Given the description of an element on the screen output the (x, y) to click on. 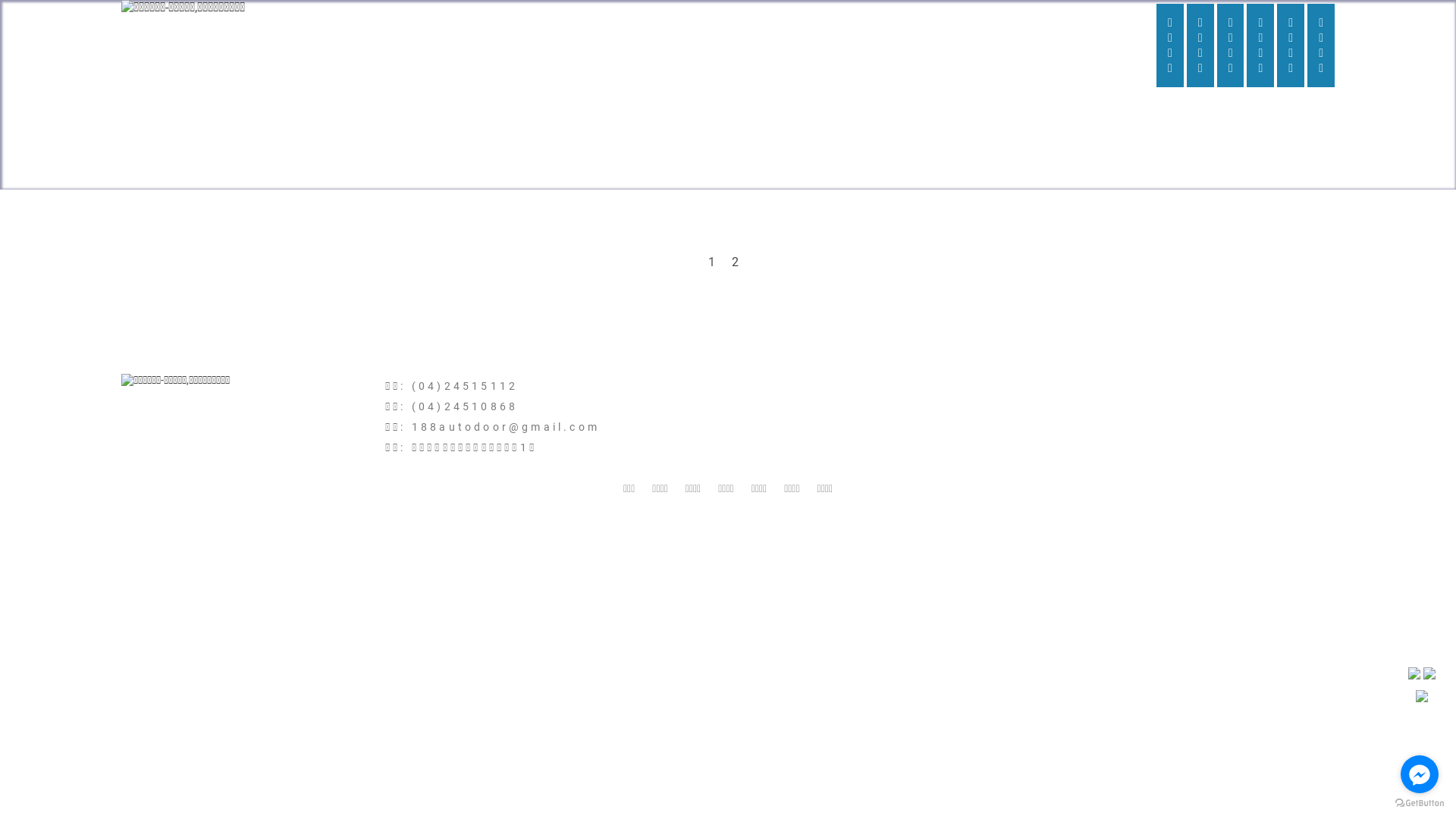
2 Element type: text (734, 261)
